Given the description of an element on the screen output the (x, y) to click on. 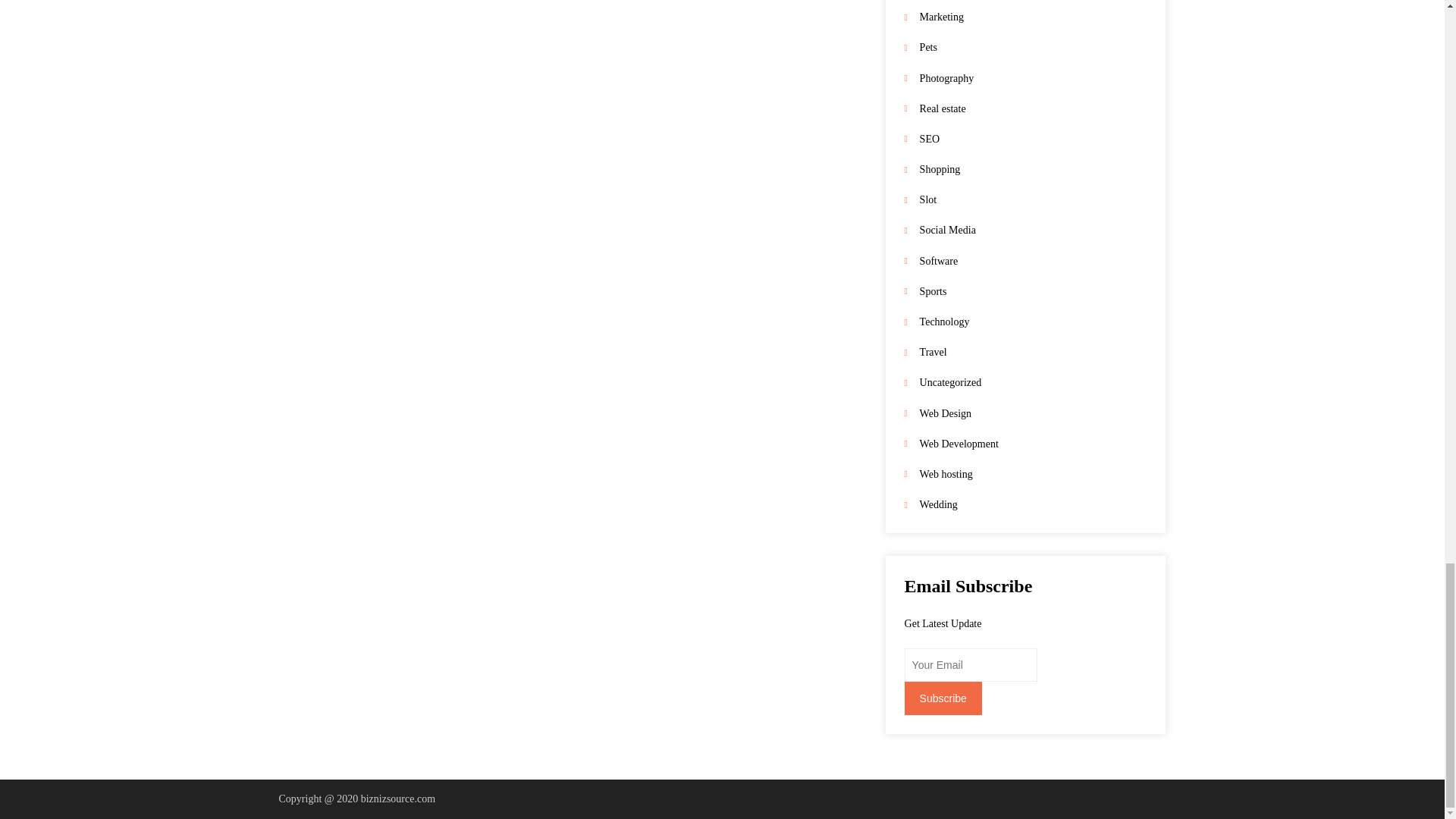
Subscribe (942, 697)
Your Email (970, 664)
